Given the description of an element on the screen output the (x, y) to click on. 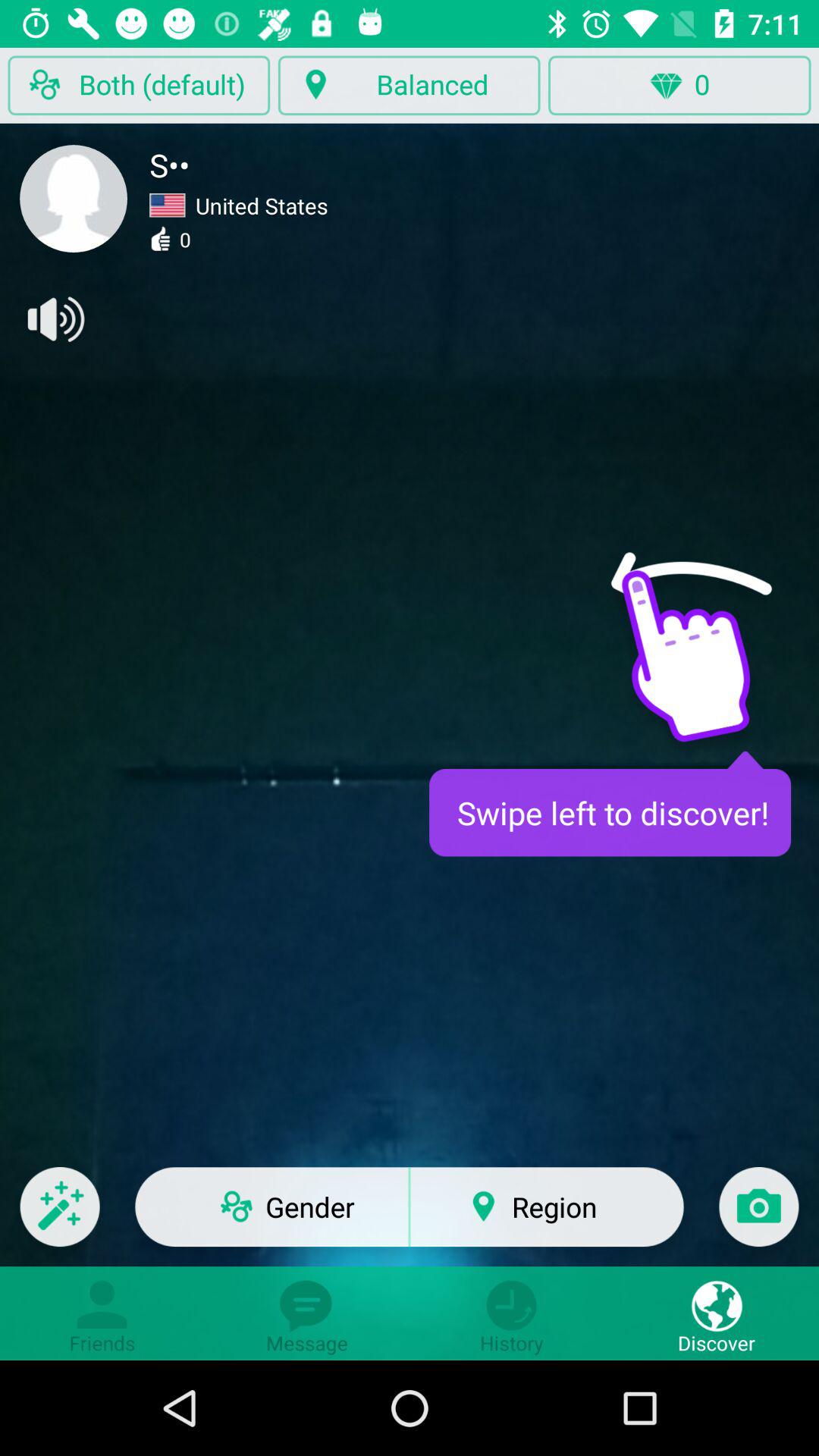
toggle sound (54, 319)
